Given the description of an element on the screen output the (x, y) to click on. 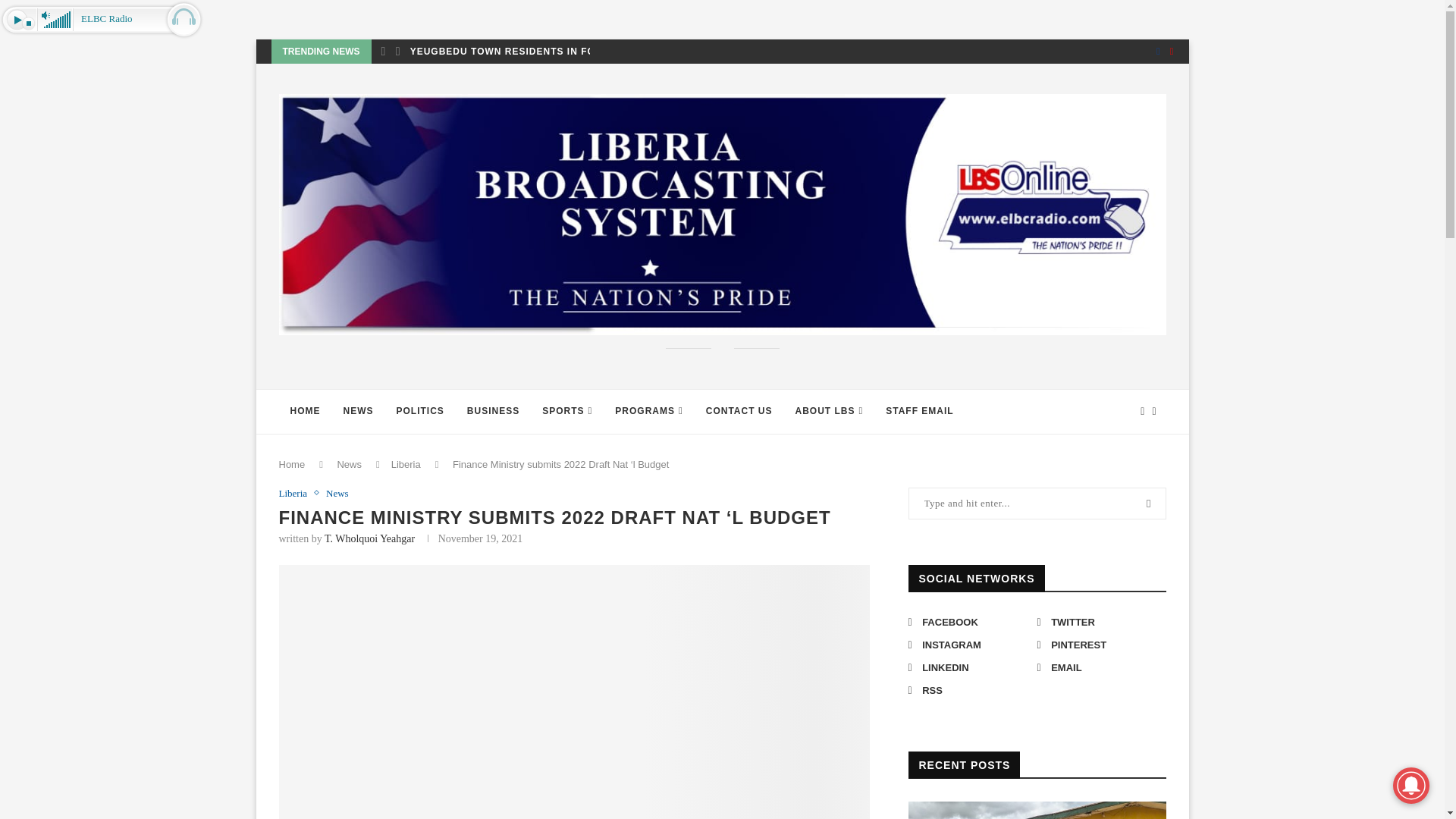
YEUGBEDU TOWN RESIDENTS IN FOYA DISTRICT FLEE EARTH... (574, 51)
ABOUT LBS (829, 411)
NEWS (358, 411)
HOME (305, 411)
PROGRAMS (649, 411)
CONTACT US (739, 411)
BUSINESS (493, 411)
POLITICS (420, 411)
